Given the description of an element on the screen output the (x, y) to click on. 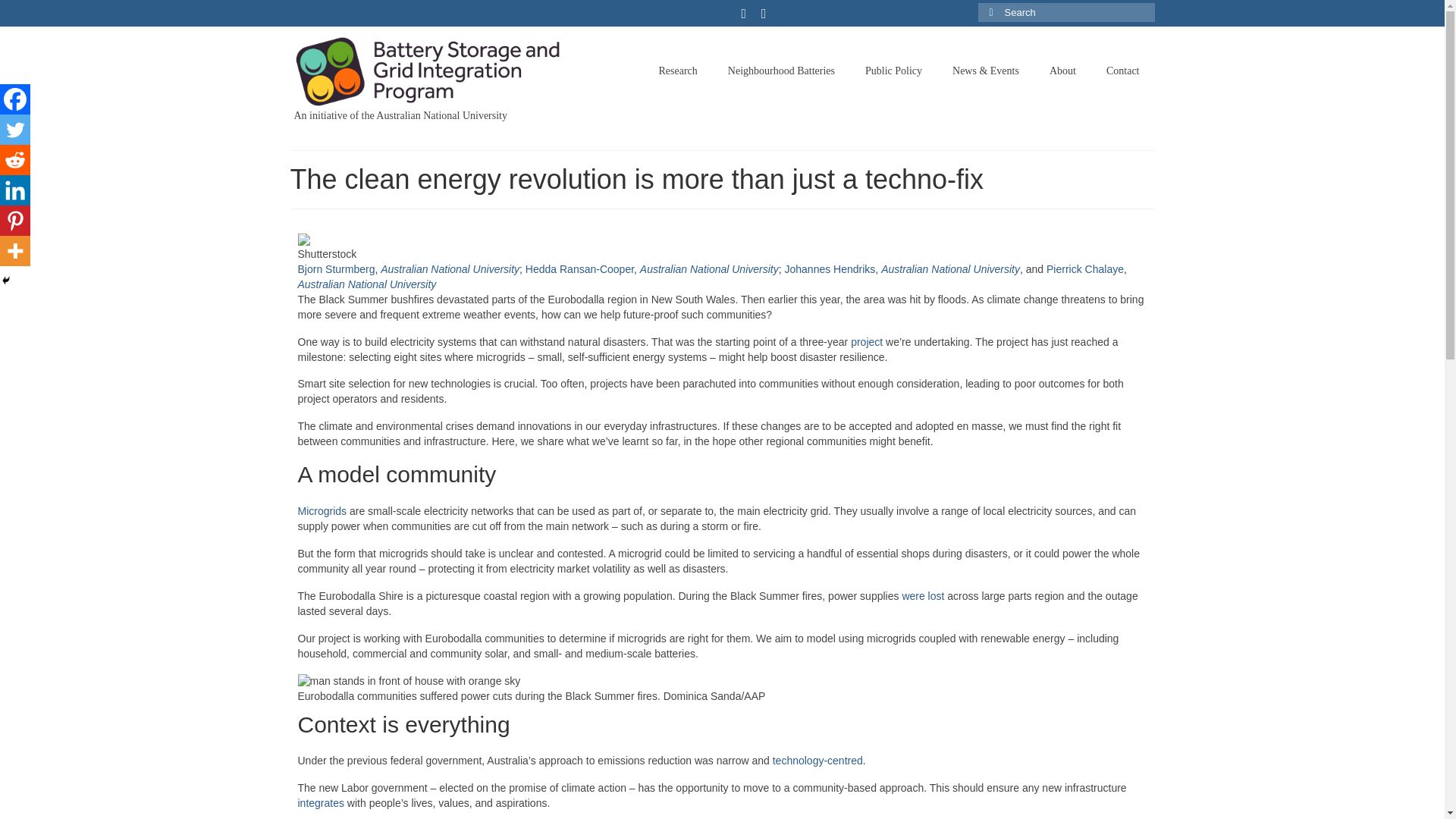
Australian National University (709, 268)
Bjorn Sturmberg (335, 268)
Twitter (15, 129)
Contact (1122, 70)
Australian National University (449, 268)
Battery Storage and Grid Integration Program (428, 71)
Linkedin (15, 190)
Hedda Ransan-Cooper (579, 268)
Research (678, 70)
Hide (5, 280)
Reddit (15, 159)
Public Policy (893, 70)
Facebook (15, 99)
About (1061, 70)
Pinterest (15, 220)
